Given the description of an element on the screen output the (x, y) to click on. 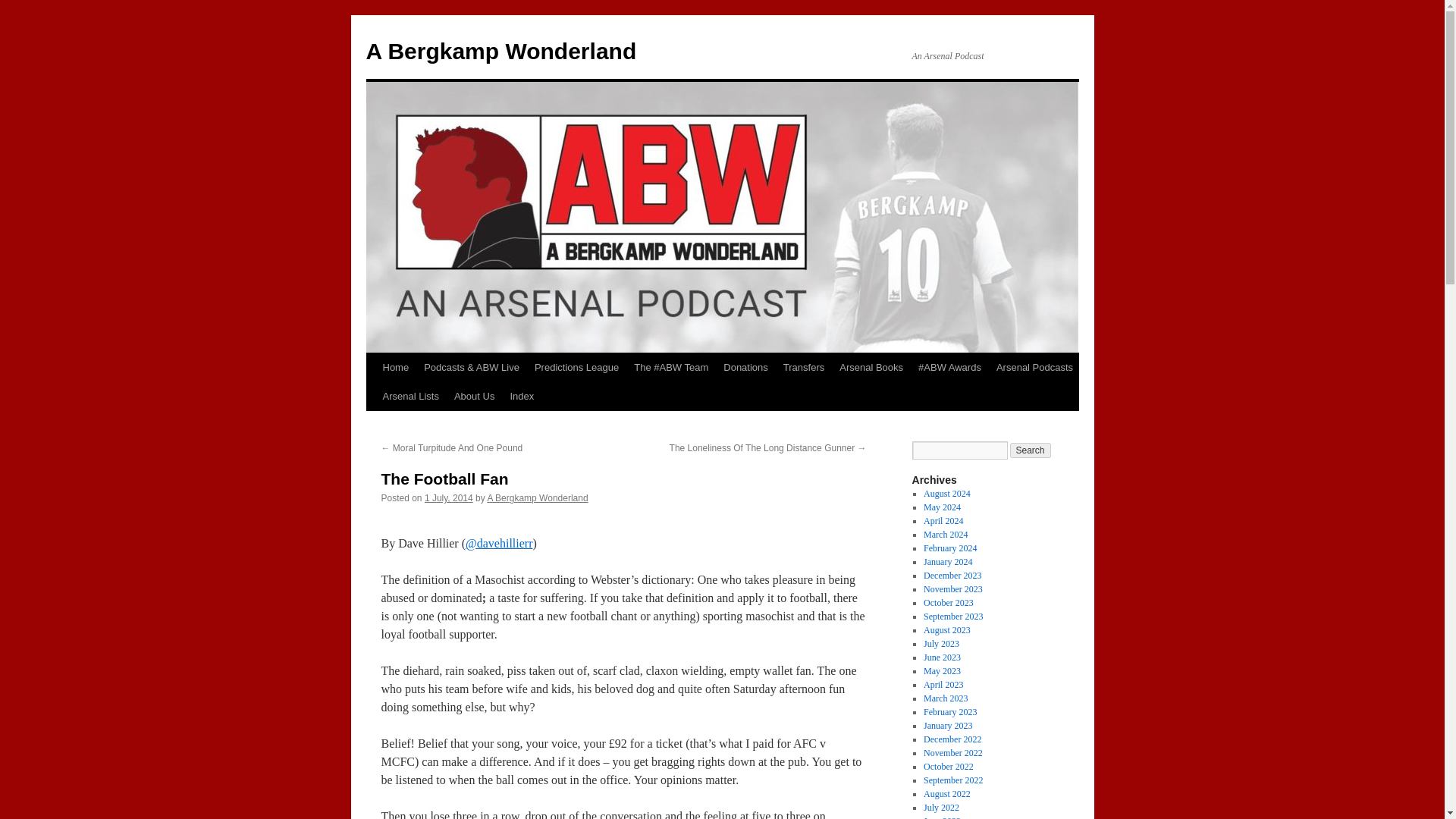
Transfers (803, 367)
8:07 pm (449, 498)
Donations (746, 367)
A Bergkamp Wonderland (500, 50)
Home (395, 367)
A Bergkamp Wonderland (500, 50)
Predictions League (576, 367)
View all posts by A Bergkamp Wonderland (537, 498)
Search (1030, 450)
